Given the description of an element on the screen output the (x, y) to click on. 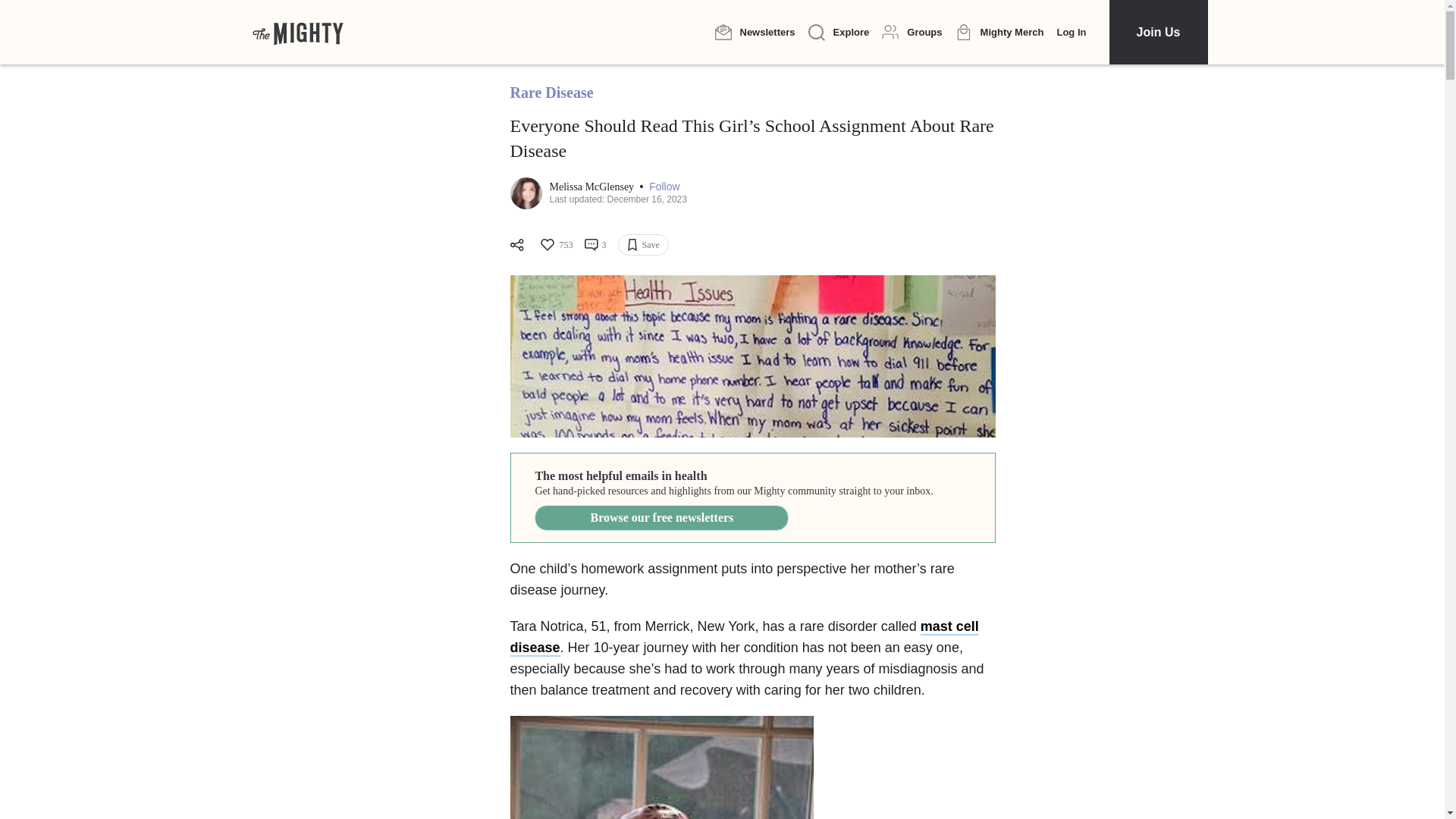
Log In (1071, 31)
Newsletters (754, 31)
Rare Disease (550, 92)
Join Us (1157, 32)
Browse our free newsletters (661, 517)
Groups (912, 32)
Save (642, 244)
Mighty Merch (999, 32)
Melissa McGlensey (592, 186)
mast cell disease (743, 637)
3 (594, 244)
753 (555, 244)
Follow (664, 186)
Explore (838, 32)
The Mighty (296, 32)
